Given the description of an element on the screen output the (x, y) to click on. 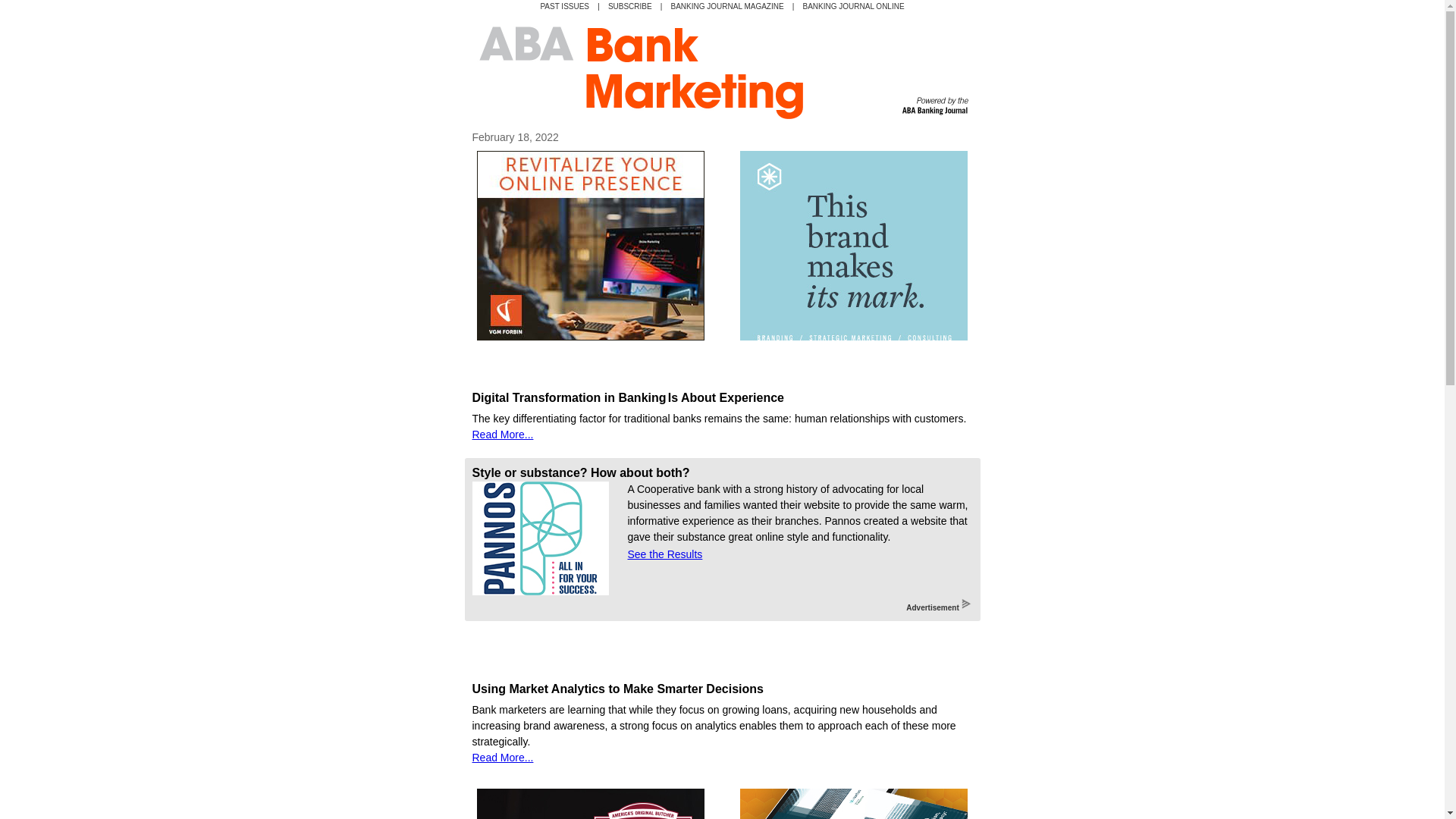
Read More... (501, 757)
SUBSCRIBE (630, 6)
BANKING JOURNAL ONLINE (853, 6)
Banking Journal Magazine (727, 6)
BANKING JOURNAL MAGAZINE (727, 6)
Past Issues (564, 6)
PAST ISSUES (564, 6)
Using Market Analytics to Make Smarter Decisions (616, 688)
Style or substance? How about both? (579, 472)
Subscribe (630, 6)
Banking Journal Online (853, 6)
See the Results (665, 553)
Read More... (501, 434)
